Given the description of an element on the screen output the (x, y) to click on. 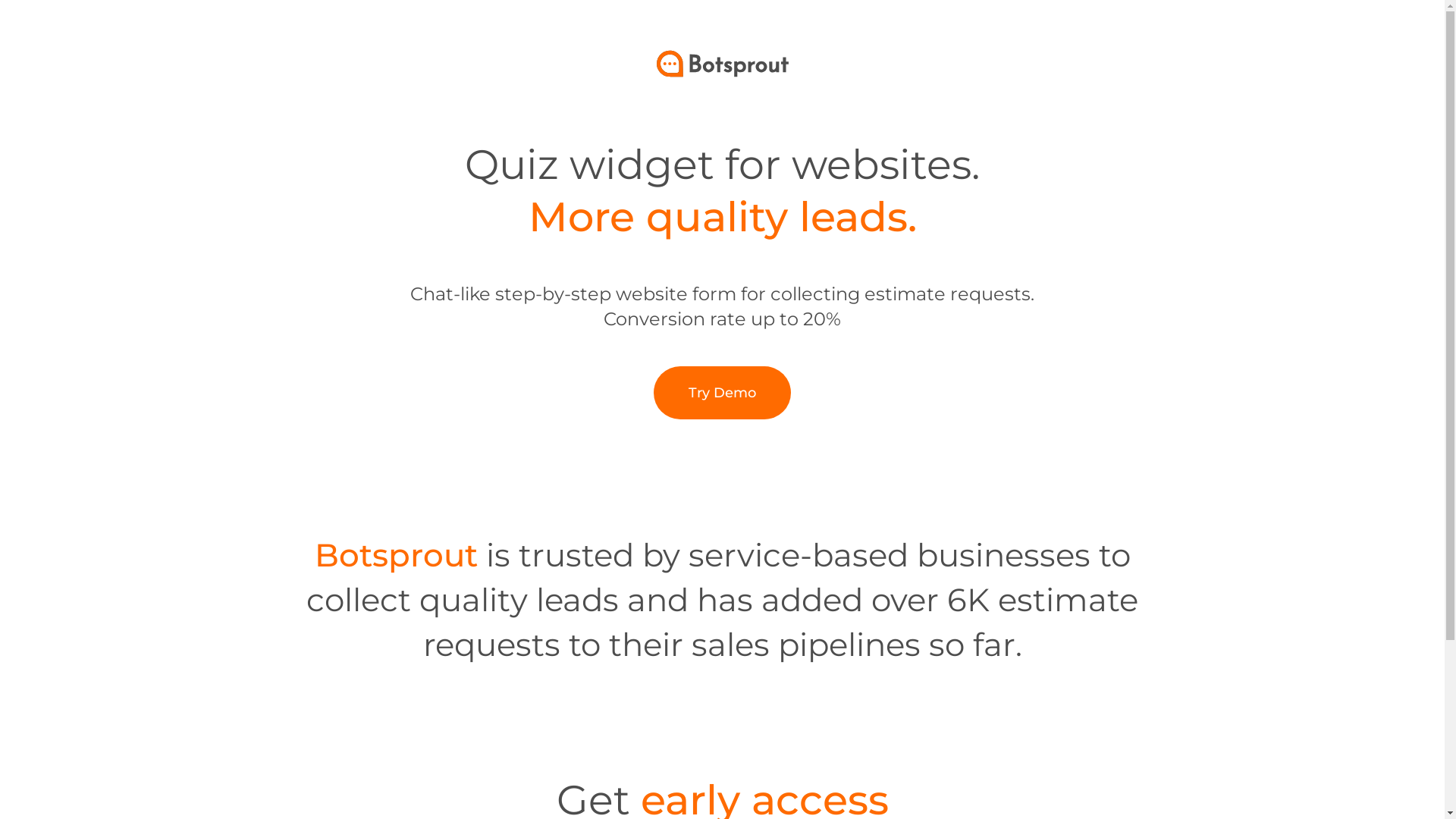
Try Demo Element type: text (721, 392)
BotsproutCreated with Sketch. Element type: text (722, 63)
